Given the description of an element on the screen output the (x, y) to click on. 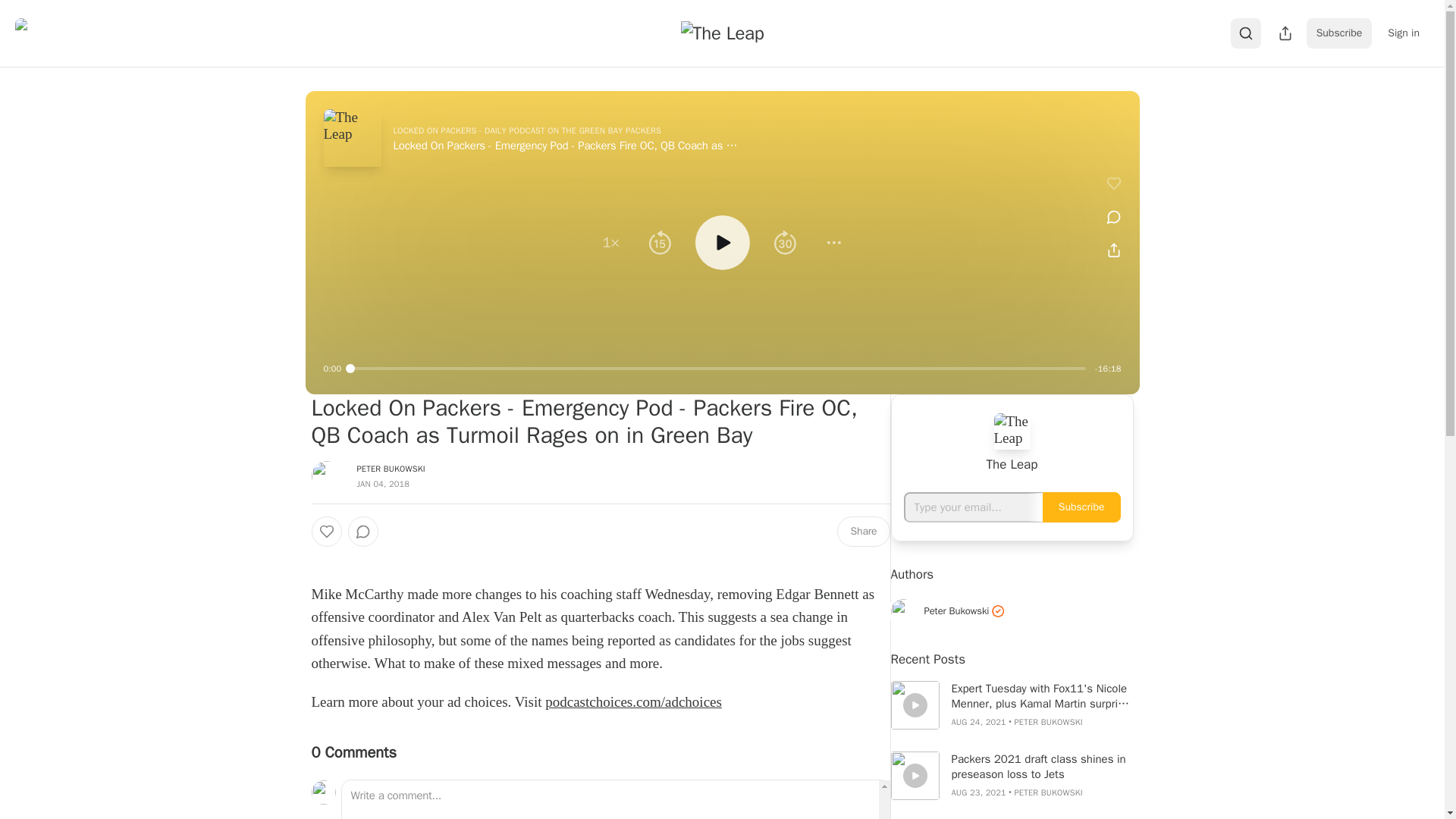
PETER BUKOWSKI (390, 468)
Subscribe (1339, 33)
Sign in (1403, 33)
Share (863, 531)
